Given the description of an element on the screen output the (x, y) to click on. 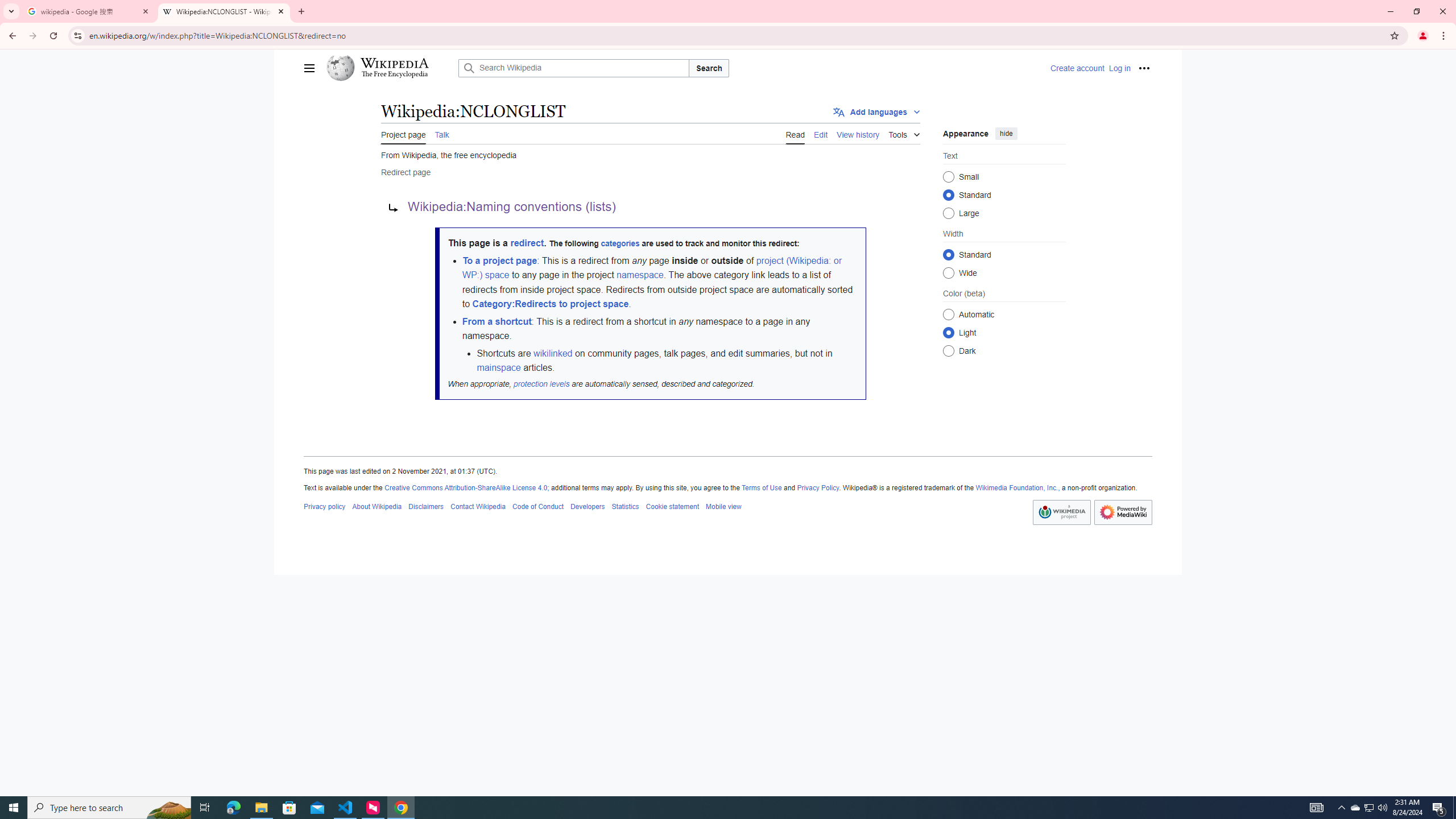
Category:Redirects to project space (549, 303)
New Tab (301, 11)
Search Wikipedia (574, 67)
From a shortcut (496, 321)
AutomationID: footer-places-mobileview (722, 506)
AutomationID: footer-poweredbyico (1122, 512)
Creative Commons Attribution-ShareAlike License 4.0 (465, 488)
AutomationID: ca-edit (820, 133)
Light (948, 332)
AutomationID: footer-places-privacy (325, 506)
Read (794, 133)
Wide (948, 272)
